Given the description of an element on the screen output the (x, y) to click on. 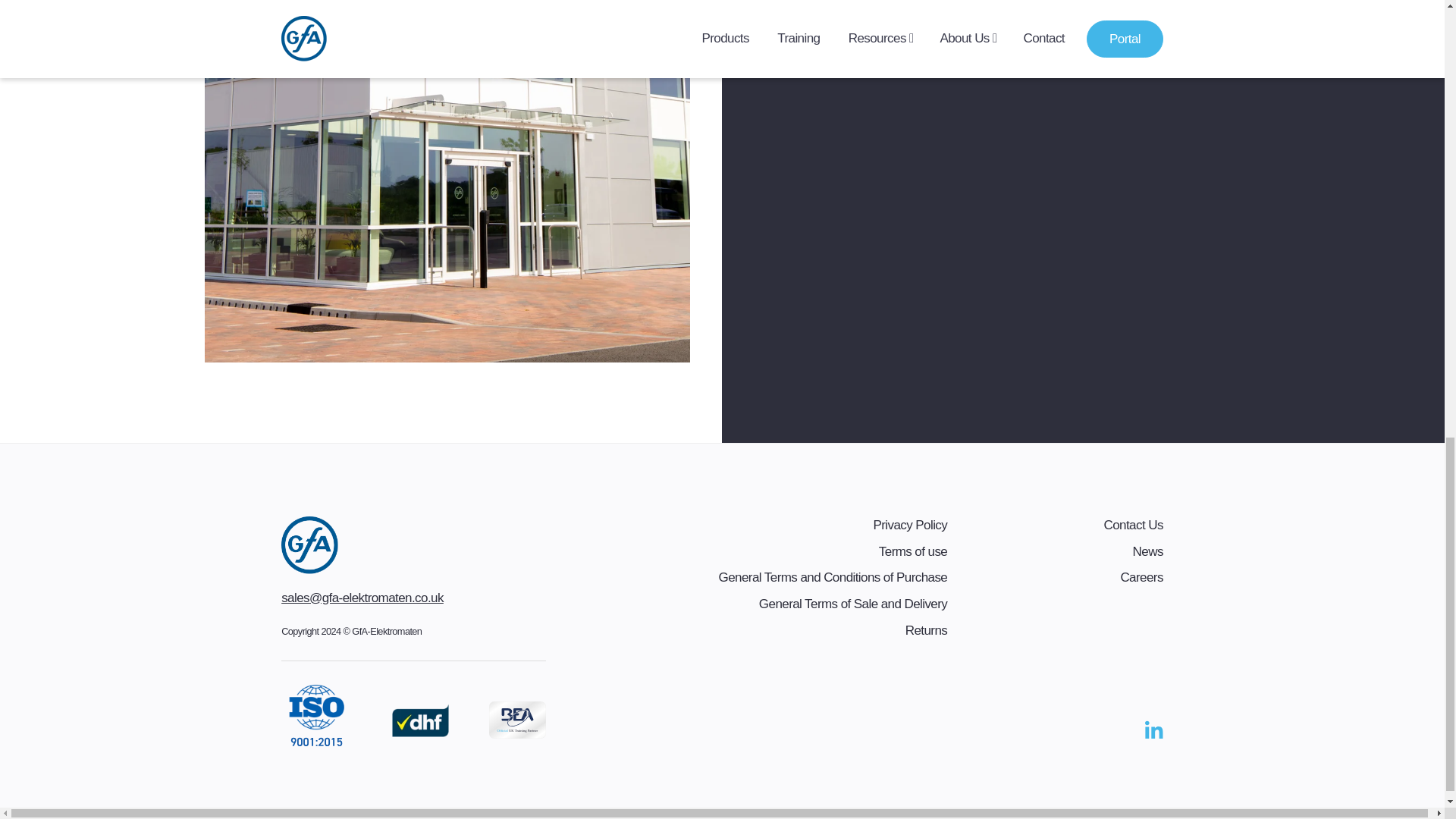
General Terms of Sale and Delivery (852, 603)
Careers (1140, 577)
Returns (926, 630)
Privacy Policy (910, 524)
Terms of use (913, 551)
Contact Us (1132, 524)
General Terms and Conditions of Purchase (833, 577)
News (1147, 551)
